Given the description of an element on the screen output the (x, y) to click on. 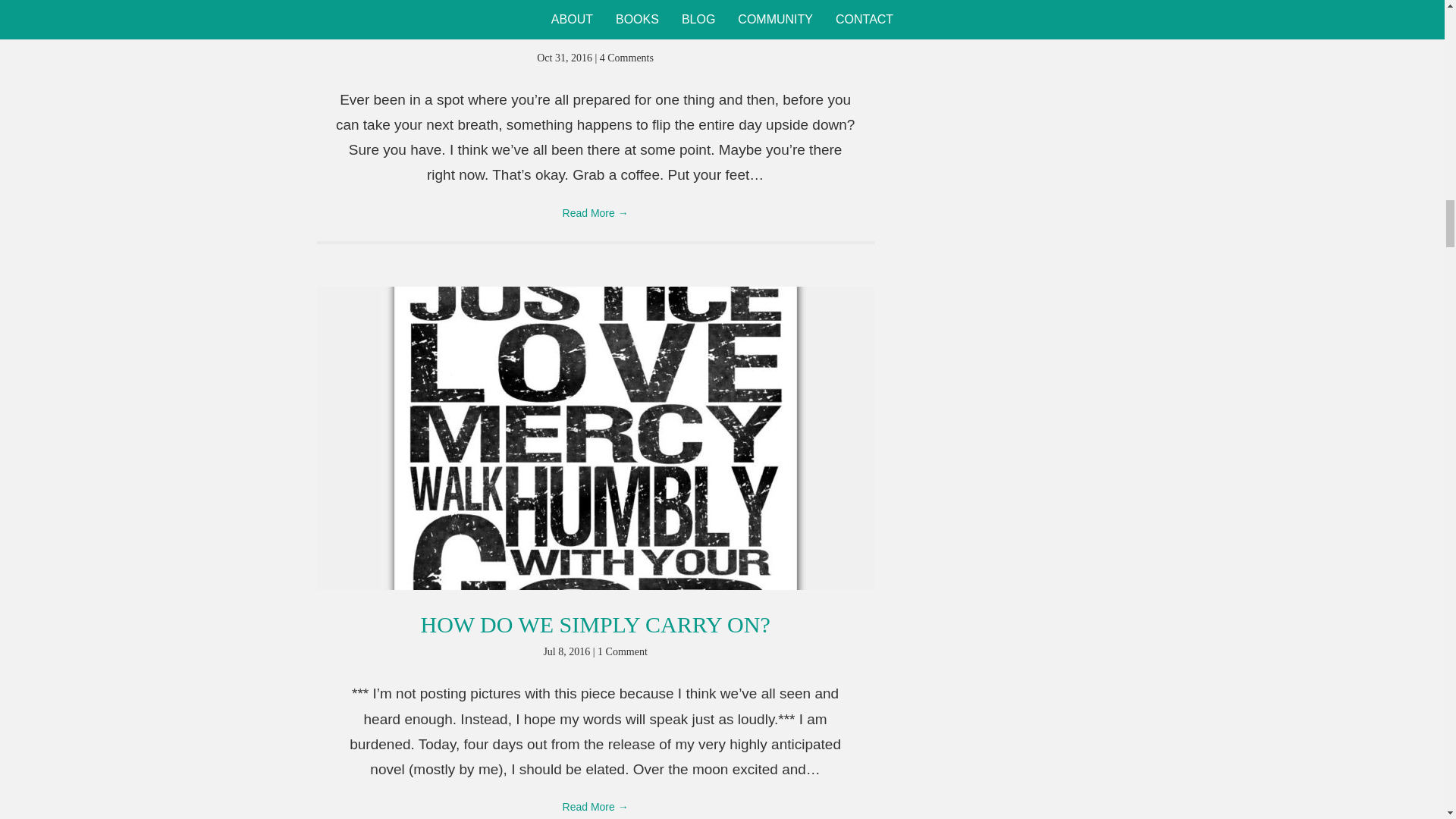
HOW DO WE SIMPLY CARRY ON? (595, 624)
How Do We Simply Carry On? (596, 437)
The (595, 30)
THE CRASH (595, 30)
4 Comments (626, 57)
1 Comment (621, 651)
How (595, 624)
